Given the description of an element on the screen output the (x, y) to click on. 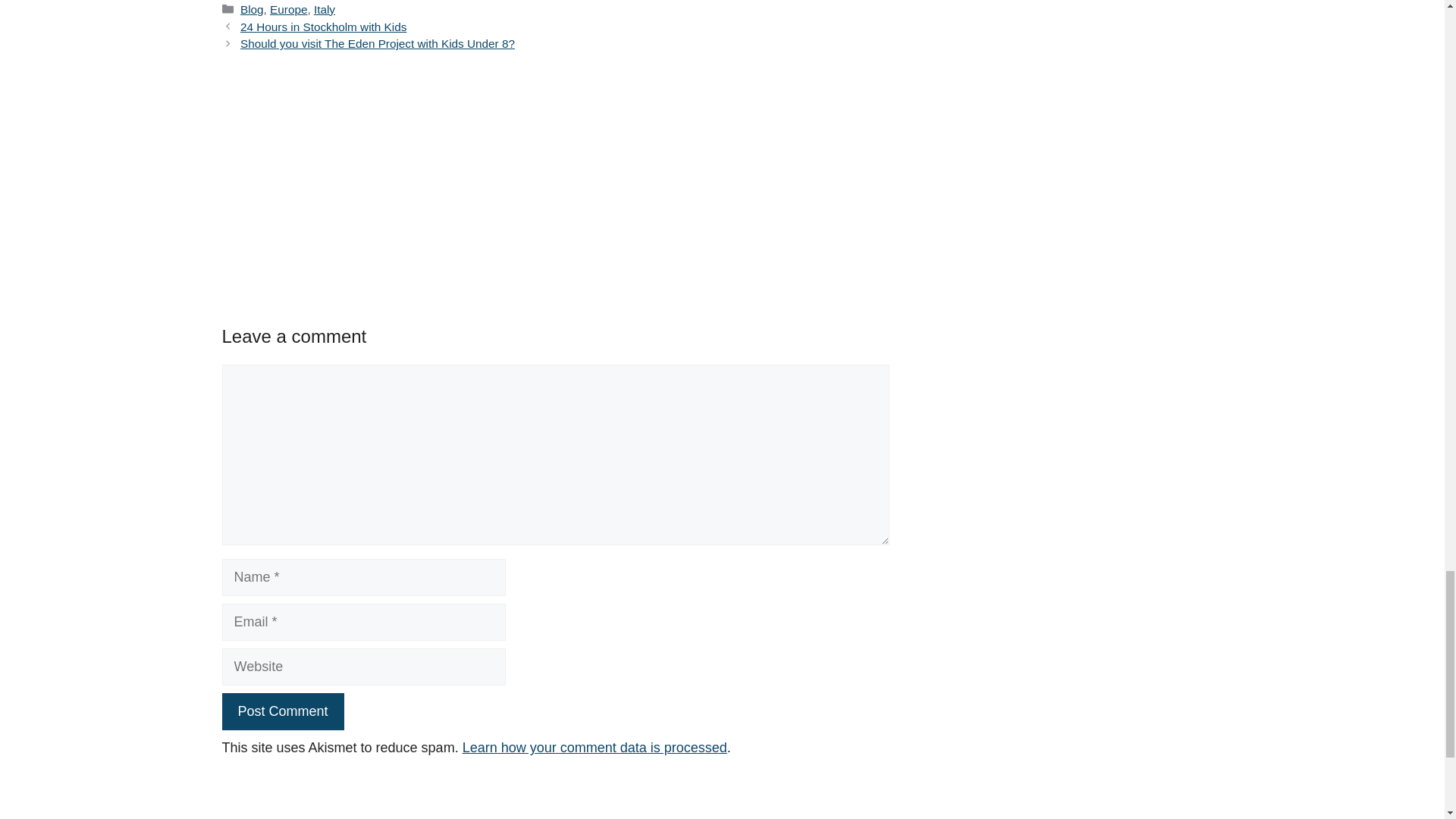
Post Comment (282, 711)
